Given the description of an element on the screen output the (x, y) to click on. 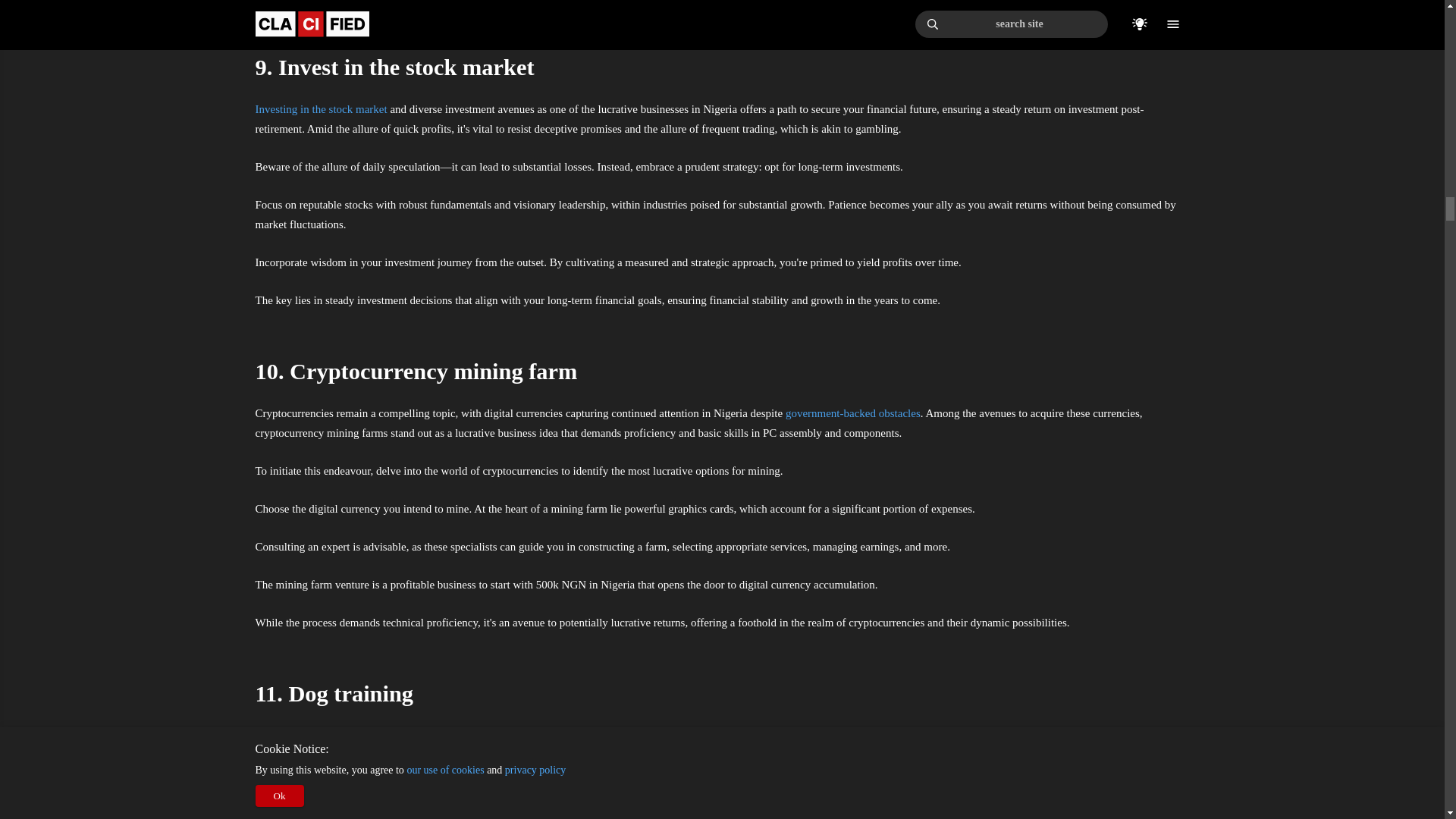
Investing in the stock market (320, 109)
government-backed obstacles (853, 413)
